Given the description of an element on the screen output the (x, y) to click on. 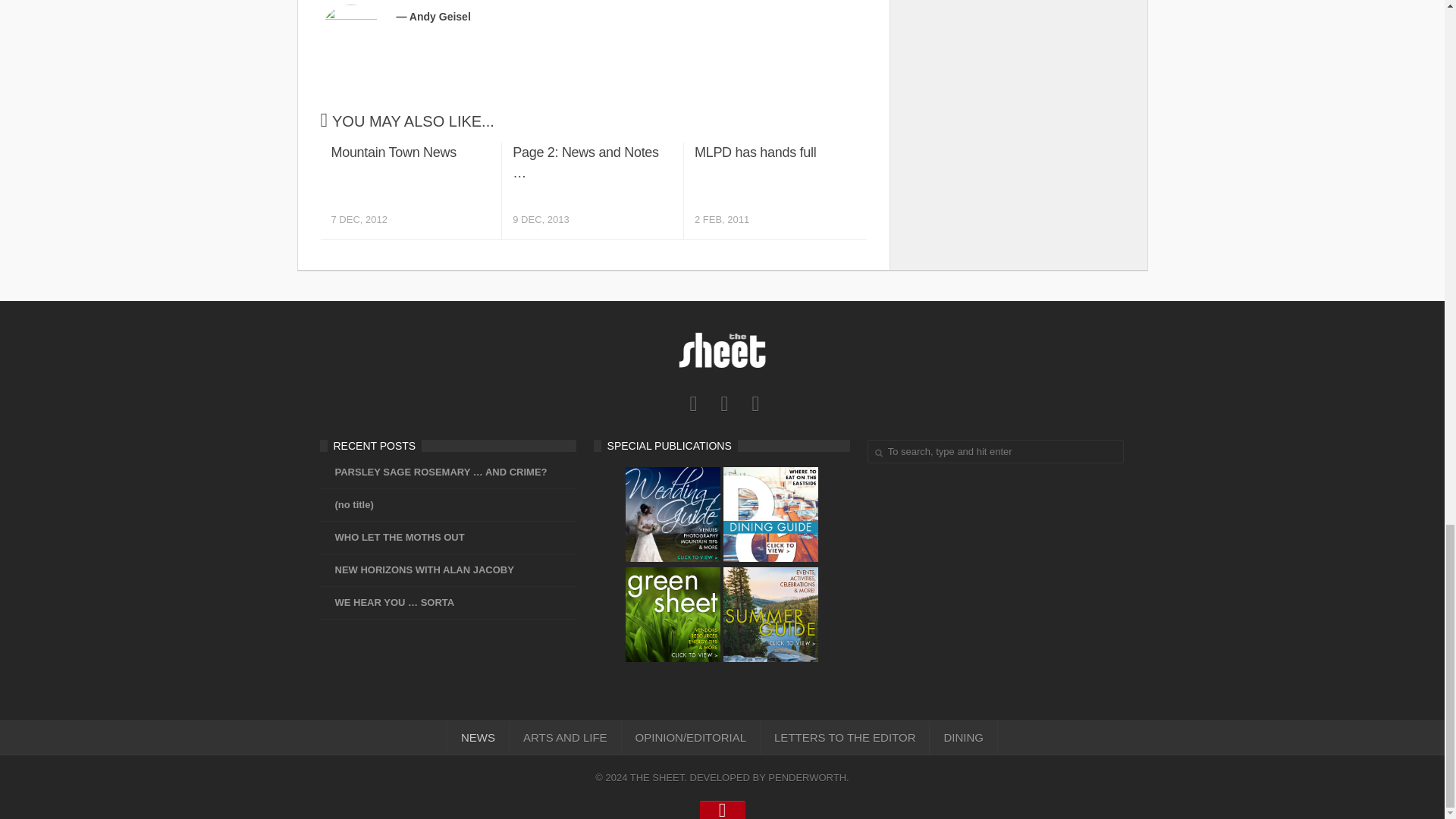
To search, type and hit enter (995, 451)
WHO LET THE MOTHS OUT (392, 537)
The Sheet on Facebook (692, 403)
RSS feed (774, 190)
To search, type and hit enter (755, 403)
Follow The Sheet on Twitter (995, 451)
NEW HORIZONS WITH ALAN JACOBY (724, 403)
